Given the description of an element on the screen output the (x, y) to click on. 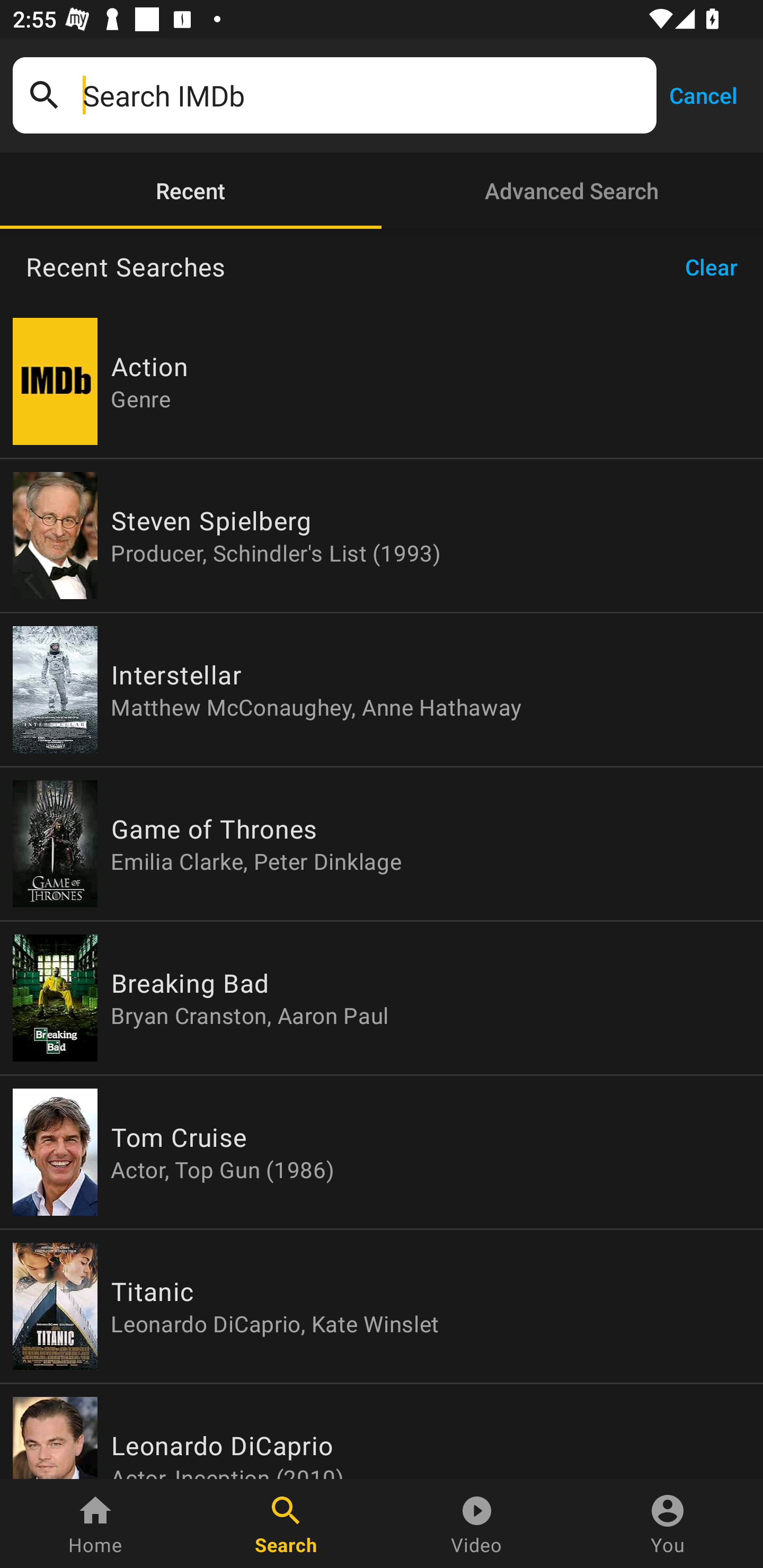
Cancel (703, 94)
Search IMDb (363, 95)
Advanced Search (572, 190)
Clear (717, 266)
Action Genre (381, 381)
Steven Spielberg Producer, Schindler's List (1993) (381, 535)
Interstellar Matthew McConaughey, Anne Hathaway (381, 689)
Game of Thrones Emilia Clarke, Peter Dinklage (381, 844)
Breaking Bad Bryan Cranston, Aaron Paul (381, 997)
Tom Cruise Actor, Top Gun (1986) (381, 1151)
Titanic Leonardo DiCaprio, Kate Winslet (381, 1305)
Leonardo DiCaprio Actor, Inception (2010) (381, 1431)
Home (95, 1523)
Video (476, 1523)
You (667, 1523)
